Given the description of an element on the screen output the (x, y) to click on. 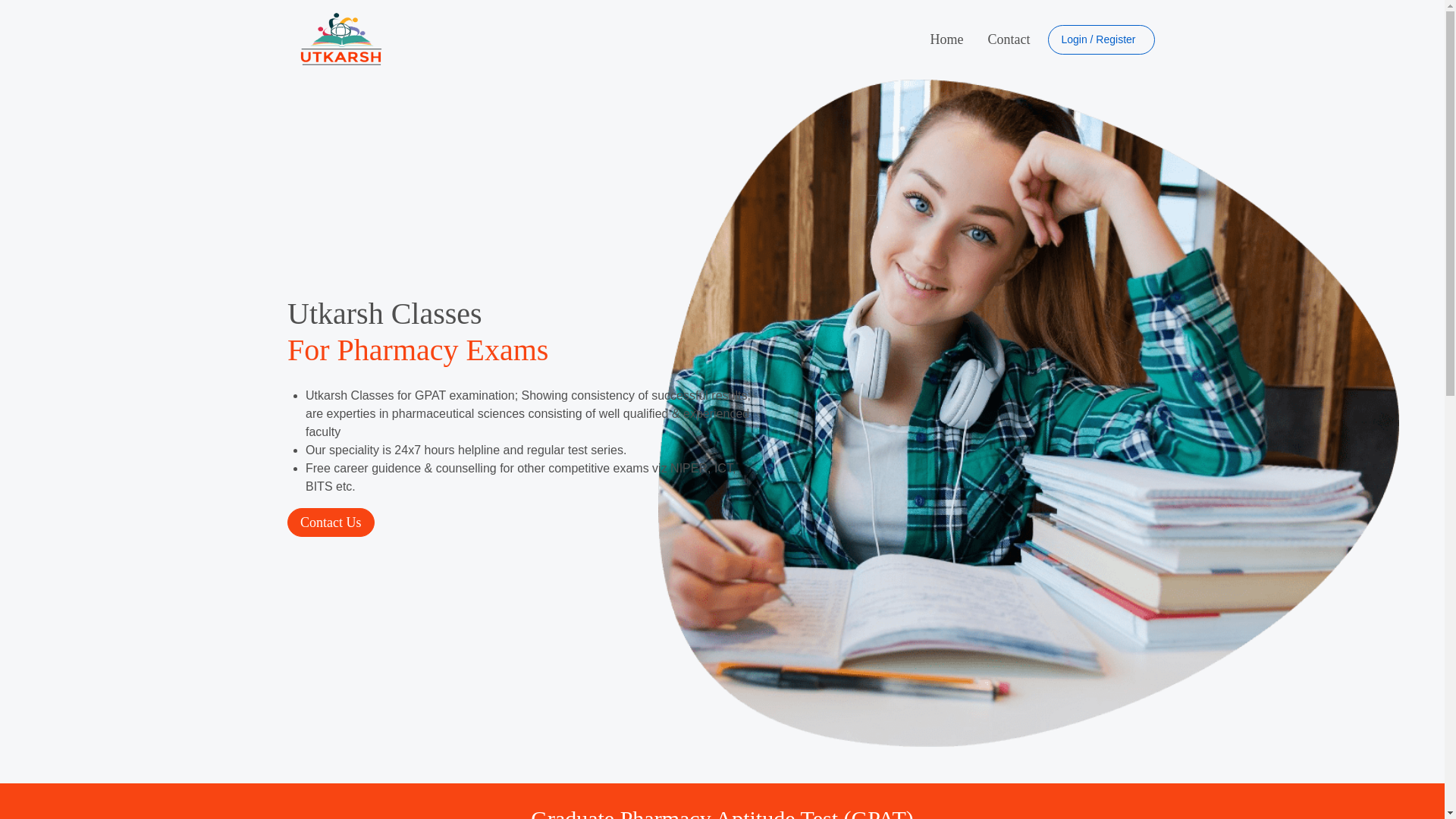
Contact (1008, 39)
Home (946, 39)
Contact Us (330, 522)
